Given the description of an element on the screen output the (x, y) to click on. 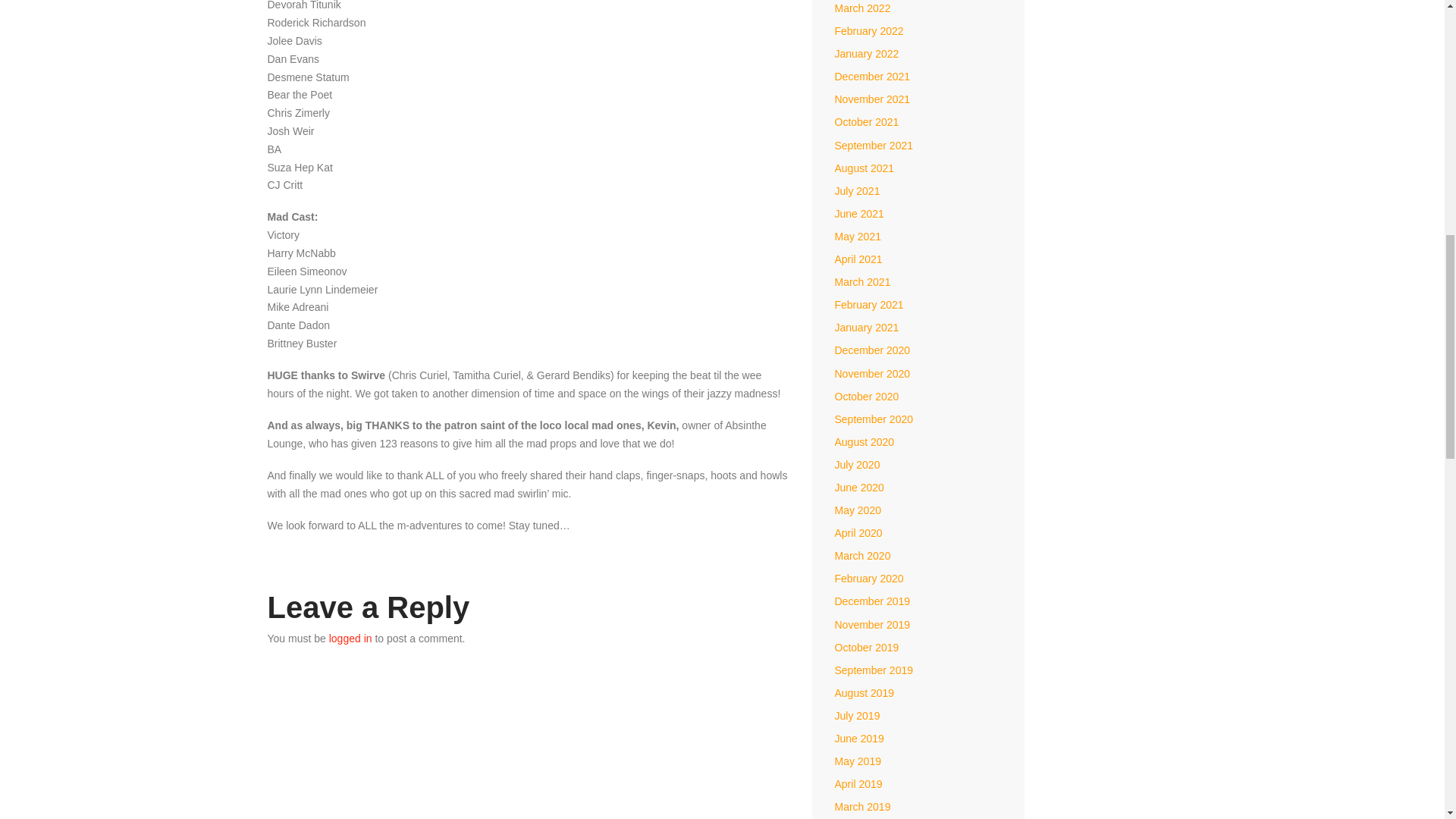
logged in (350, 638)
